Given the description of an element on the screen output the (x, y) to click on. 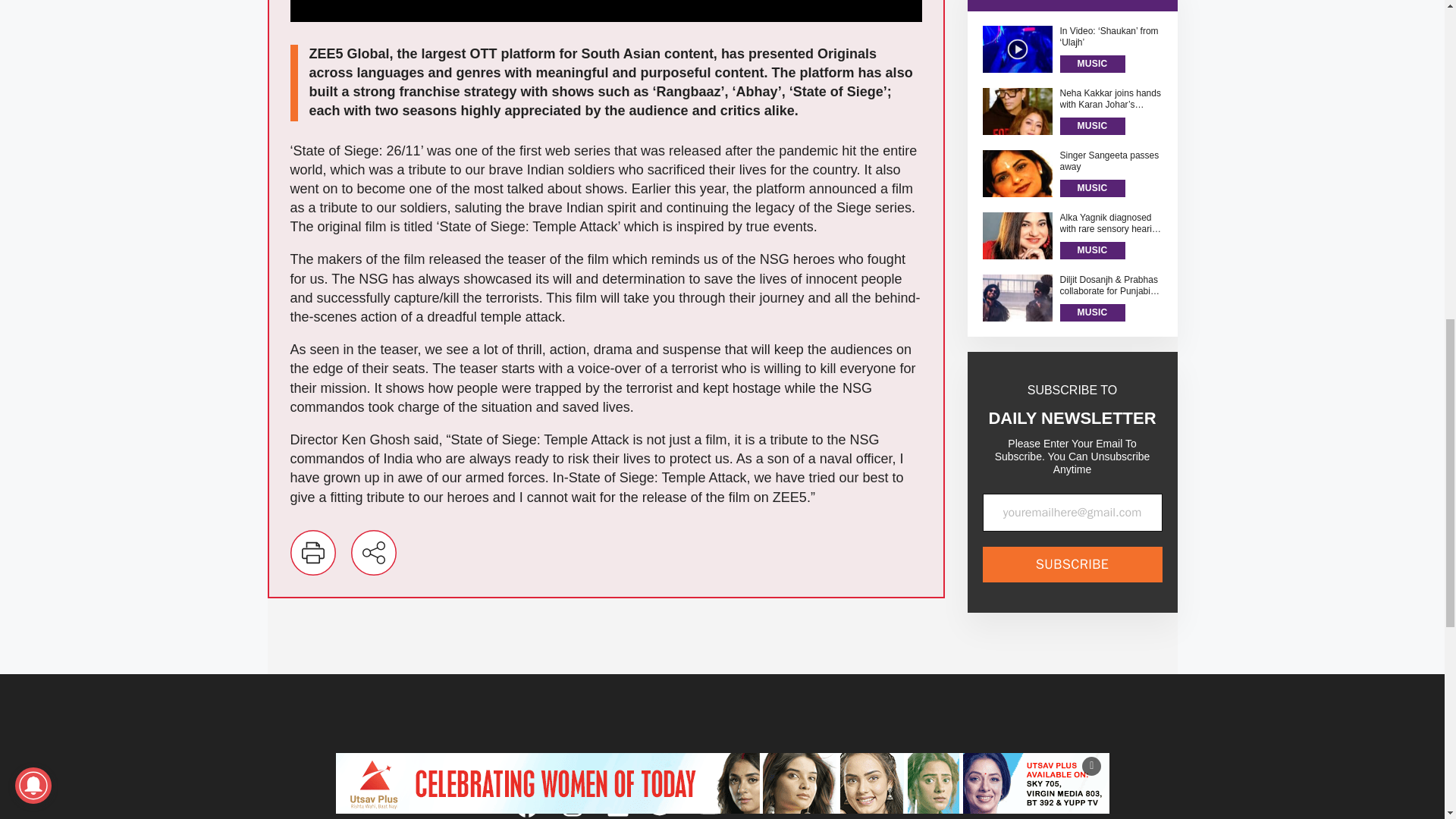
Subscribe (1071, 396)
